Given the description of an element on the screen output the (x, y) to click on. 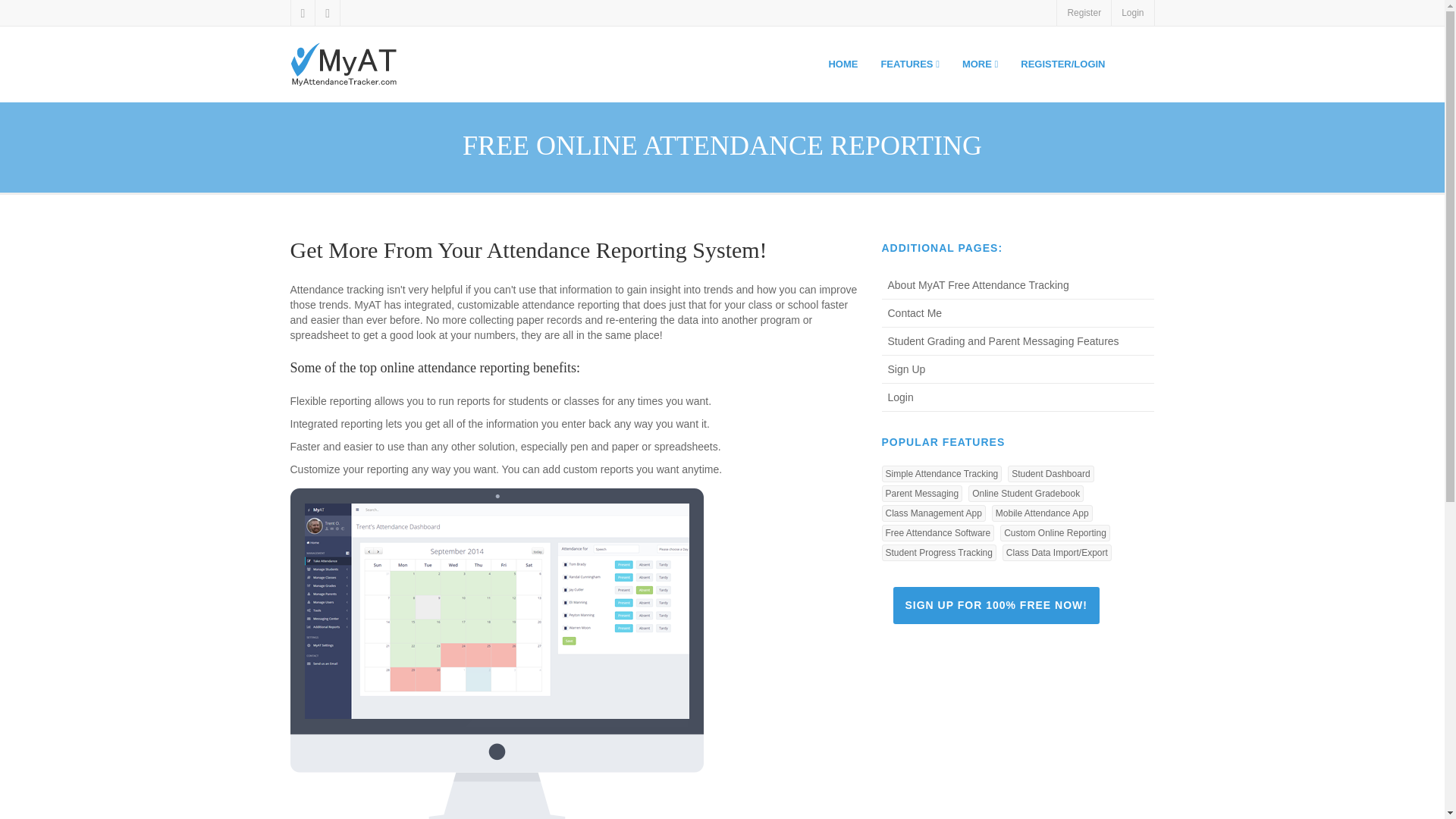
Class Management App (932, 513)
Contact Me (1017, 313)
Simple Attendance Tracking (940, 474)
Student Progress Tracking (937, 552)
Online Student Gradebook (1025, 493)
Sign Up (1017, 369)
Login (1017, 397)
Login (1133, 12)
Student Grading and Parent Messaging Features (1017, 341)
Student Dashboard (1050, 474)
